Given the description of an element on the screen output the (x, y) to click on. 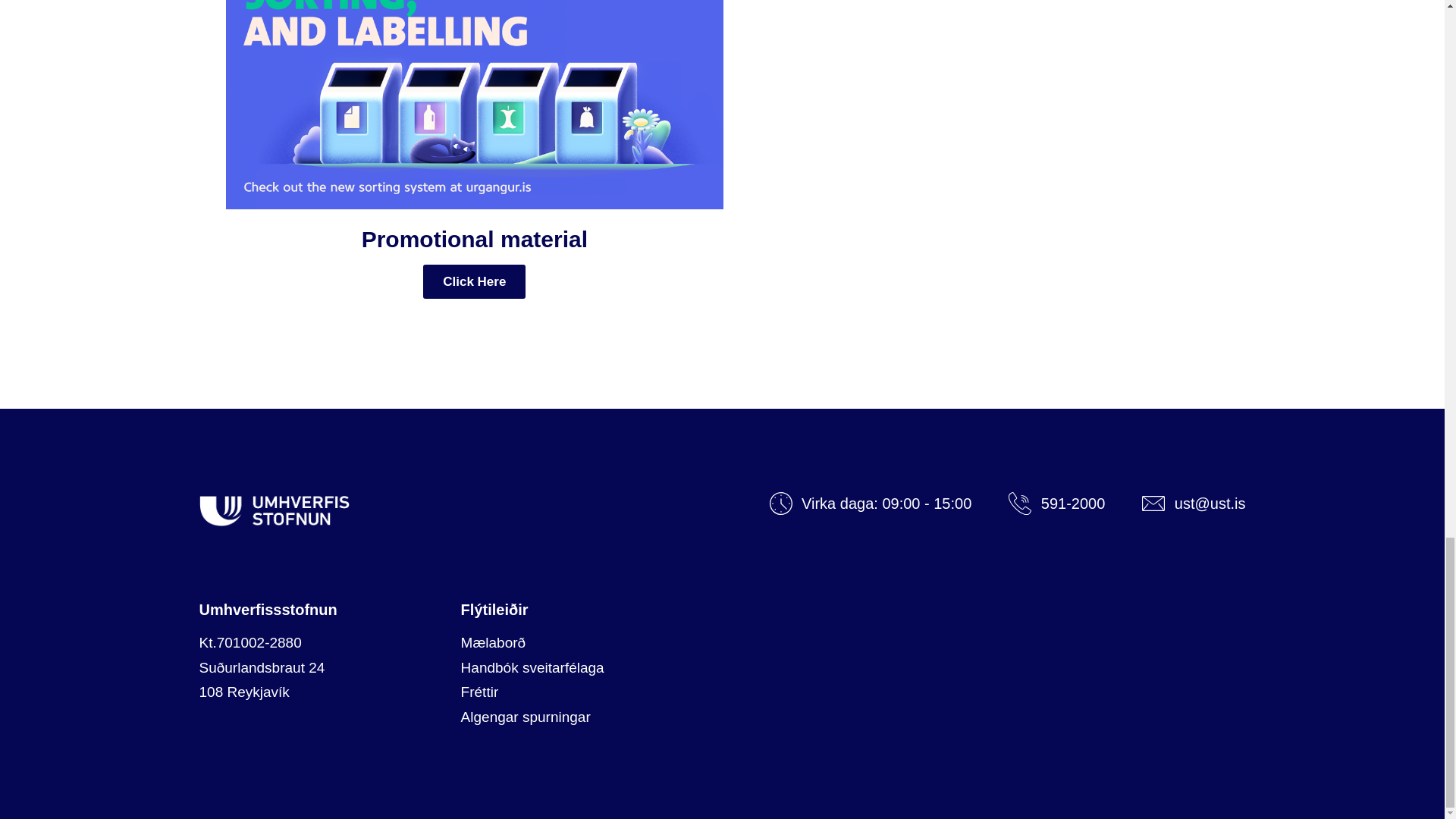
Click Here (474, 281)
